Given the description of an element on the screen output the (x, y) to click on. 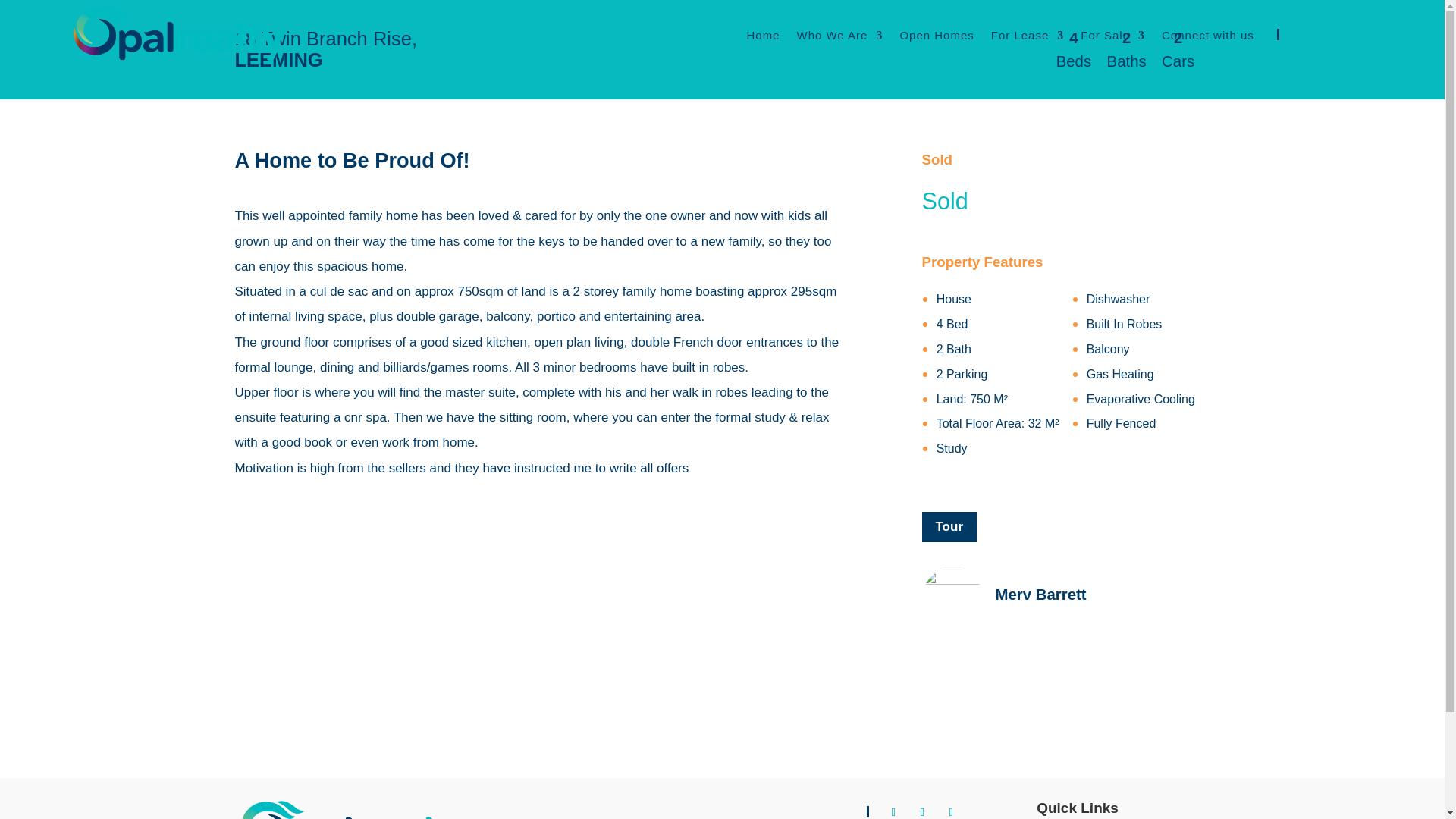
Transparent Word - Colour (178, 33)
Follow on Facebook (893, 809)
Follow on Instagram (922, 809)
Home (761, 26)
Open Homes (936, 33)
Follow on Facebook (1303, 33)
Transparent Word - Colour (357, 809)
Follow on Instagram (1331, 33)
Connect with us (1207, 38)
Who We Are (839, 28)
